Given the description of an element on the screen output the (x, y) to click on. 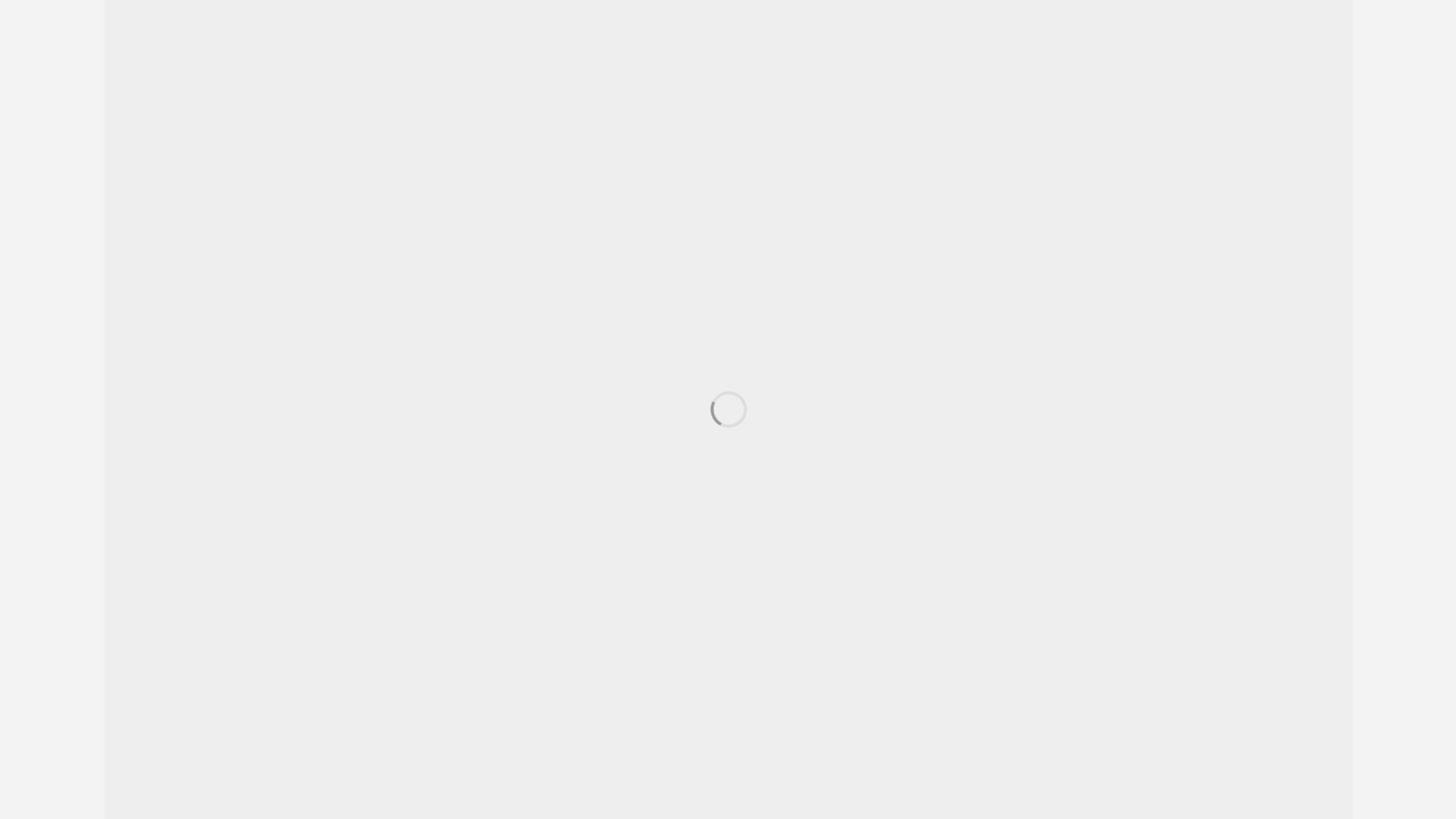
Cookie Policy (1193, 799)
Contents (172, 32)
READ ON (212, 691)
Fullscreen (245, 32)
Cookie Policy (1193, 799)
Contents (172, 32)
